Given the description of an element on the screen output the (x, y) to click on. 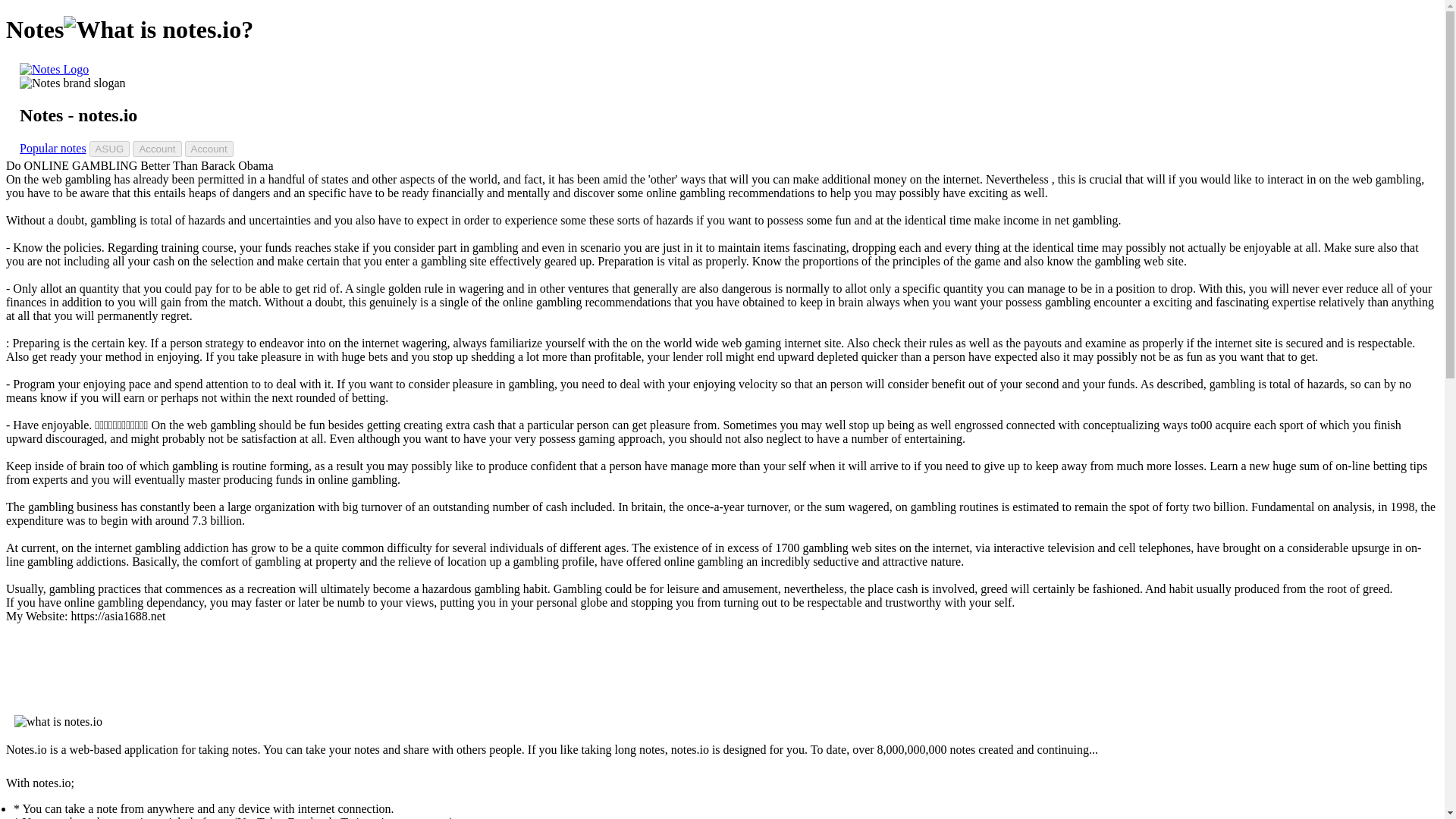
ASUG (109, 148)
Account (208, 148)
Fast, easy and short (72, 83)
notes (54, 69)
what is notes.io? (158, 29)
Popular notes (52, 147)
Account (156, 148)
Notes (54, 69)
